Given the description of an element on the screen output the (x, y) to click on. 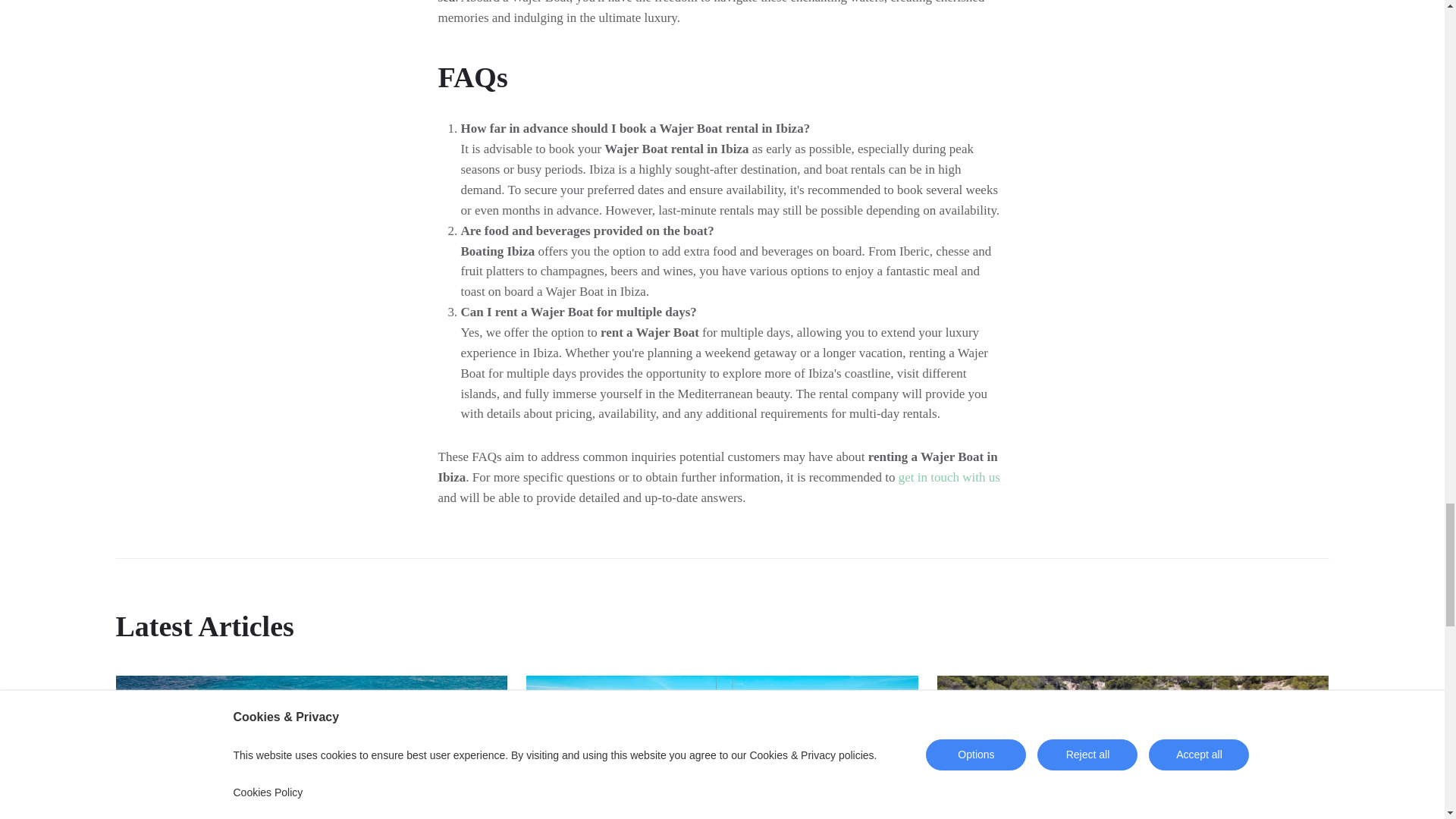
get in touch with us (949, 477)
